Given the description of an element on the screen output the (x, y) to click on. 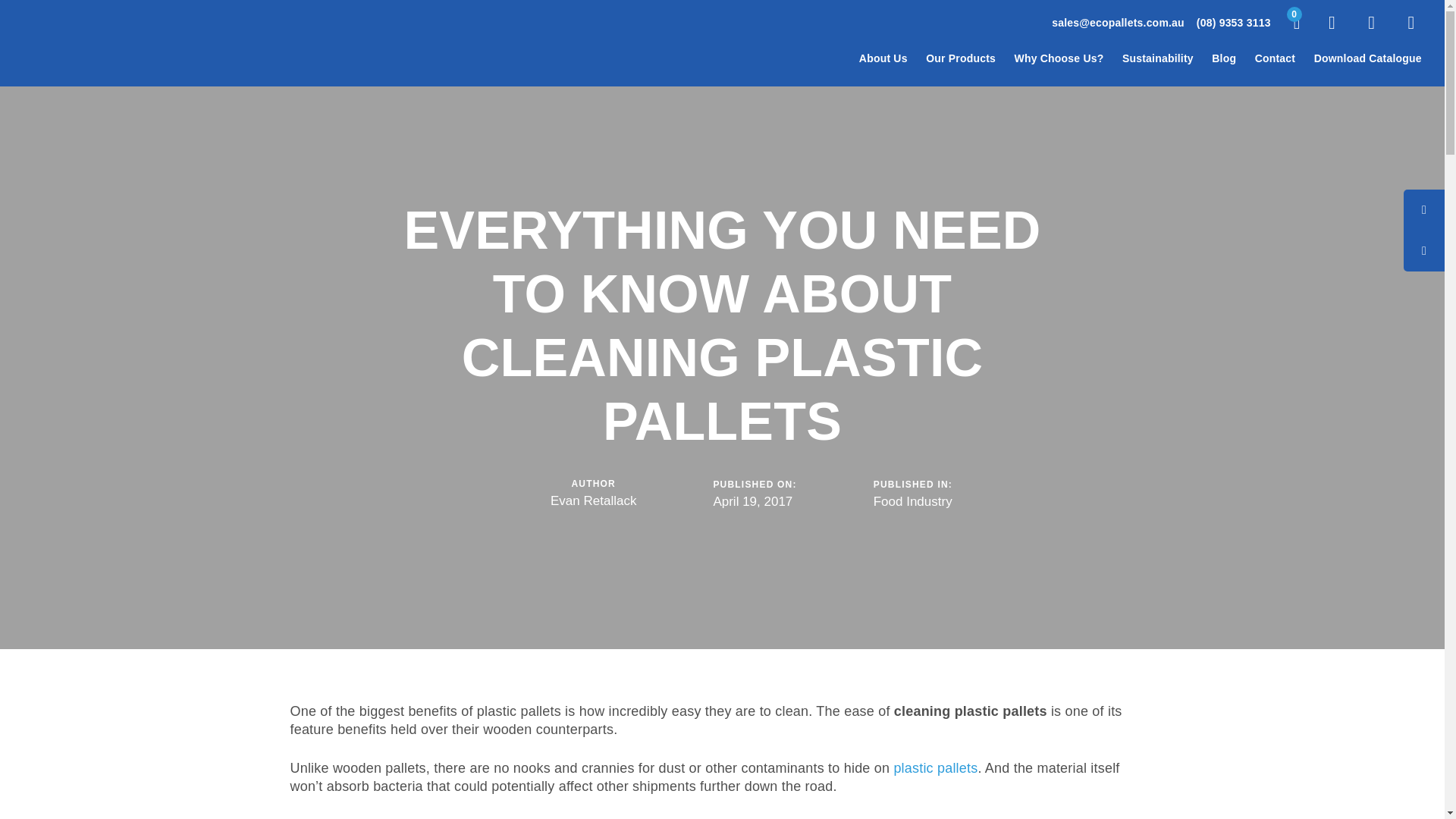
Why Choose Us? (1058, 59)
Our Products (960, 59)
About Us (883, 59)
Posts by Evan Retallack (593, 500)
Sustainability (1157, 59)
